Given the description of an element on the screen output the (x, y) to click on. 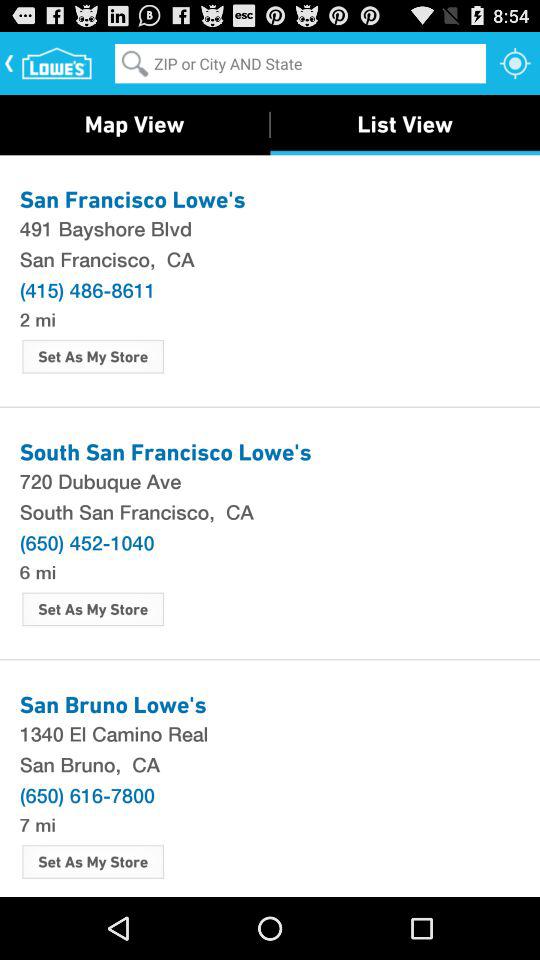
select the 720 dubuque ave item (269, 480)
